Given the description of an element on the screen output the (x, y) to click on. 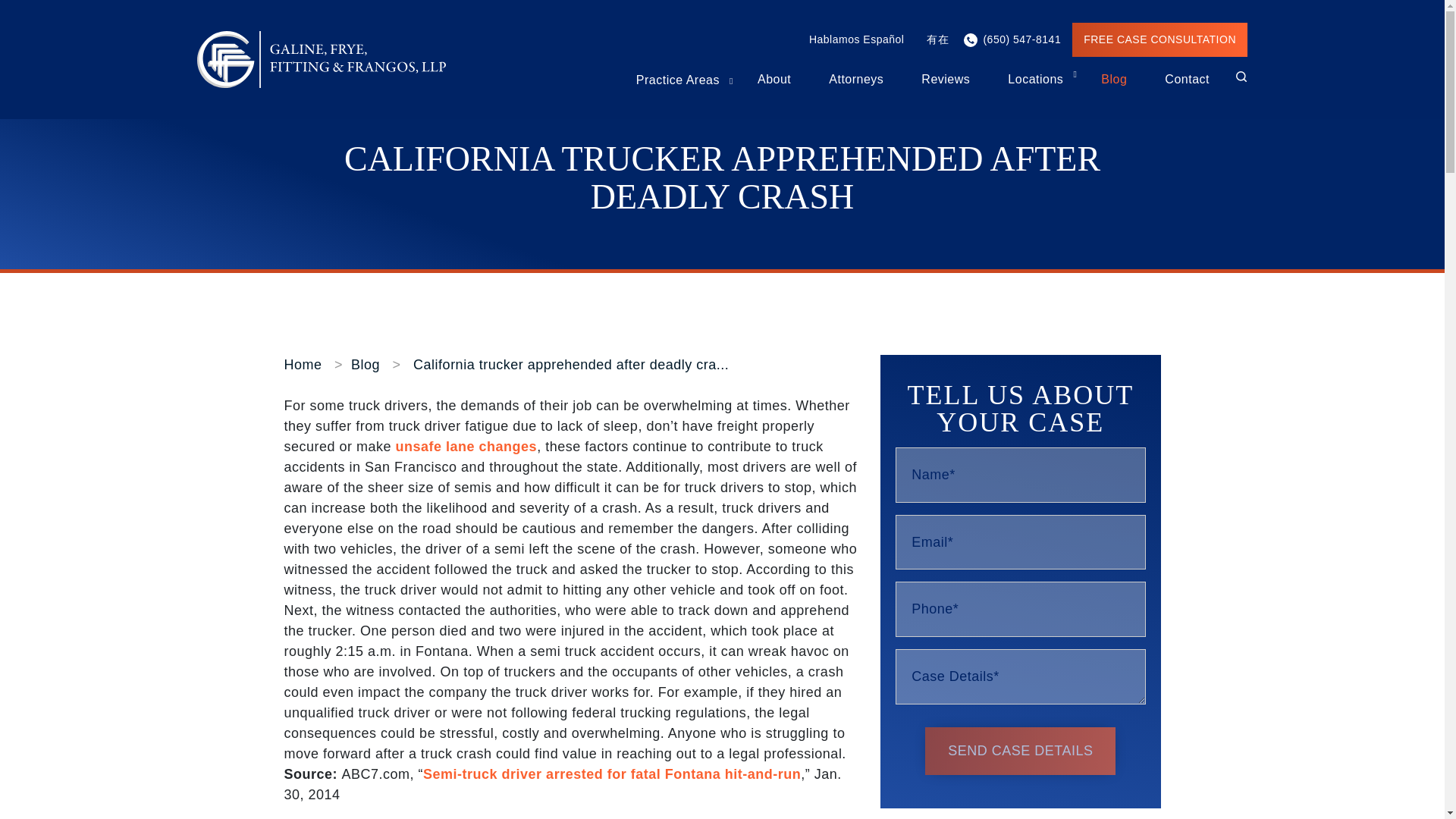
Practice Areas (677, 79)
Attorneys (855, 79)
FREE CASE CONSULTATION (1159, 39)
Blog (1113, 79)
Locations (1034, 79)
Free Case Consultation (1159, 39)
Contact (1186, 79)
About (773, 79)
Reviews (945, 79)
